Given the description of an element on the screen output the (x, y) to click on. 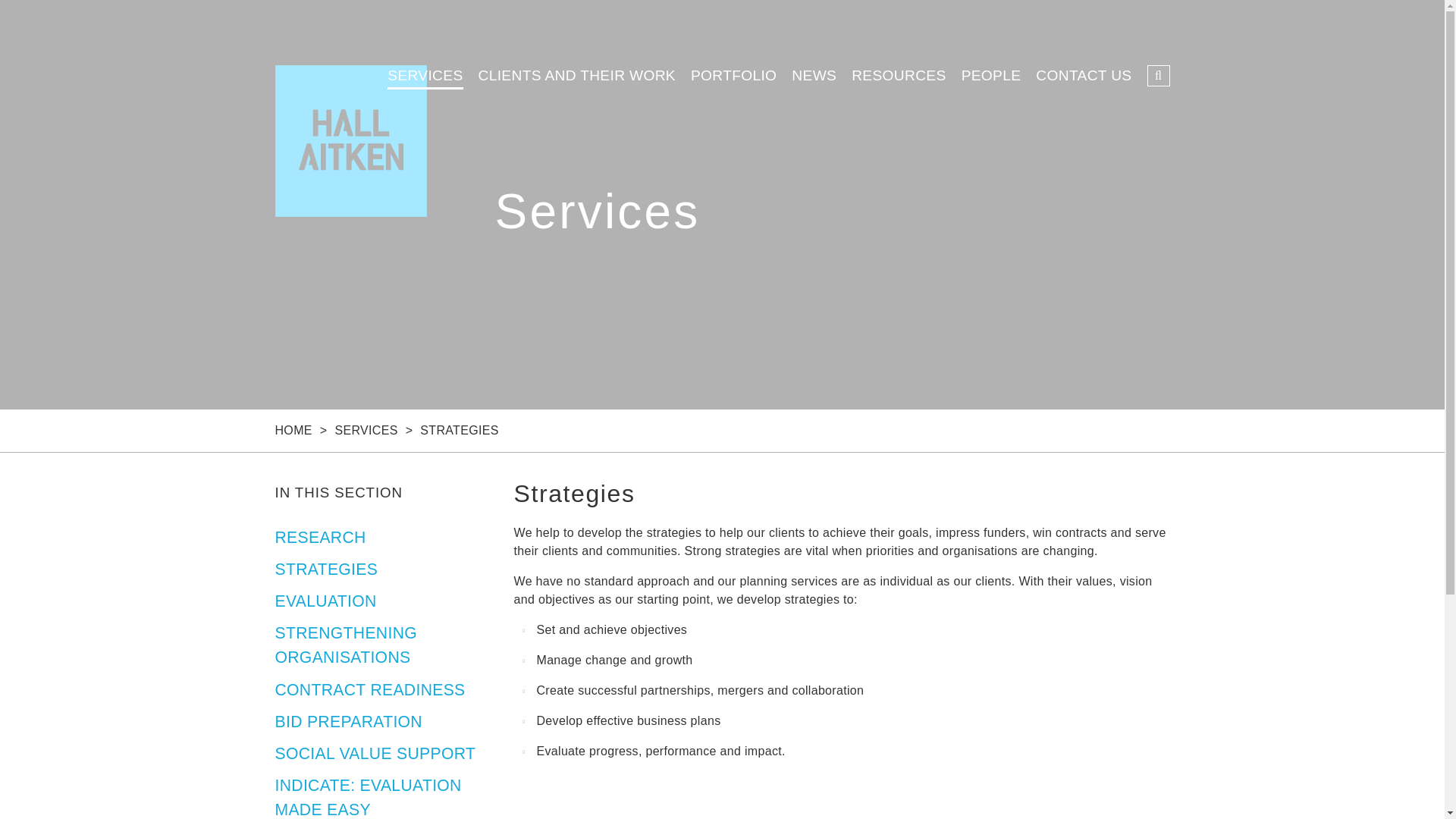
INDICATE: EVALUATION MADE EASY (368, 797)
CONTACT US (1083, 74)
CONTRACT READINESS (369, 689)
STRENGTHENING ORGANISATIONS (345, 644)
SOCIAL VALUE SUPPORT (375, 753)
RESEARCH (320, 537)
EVALUATION (325, 600)
NEWS (813, 74)
BID PREPARATION (348, 721)
Services (365, 430)
